Given the description of an element on the screen output the (x, y) to click on. 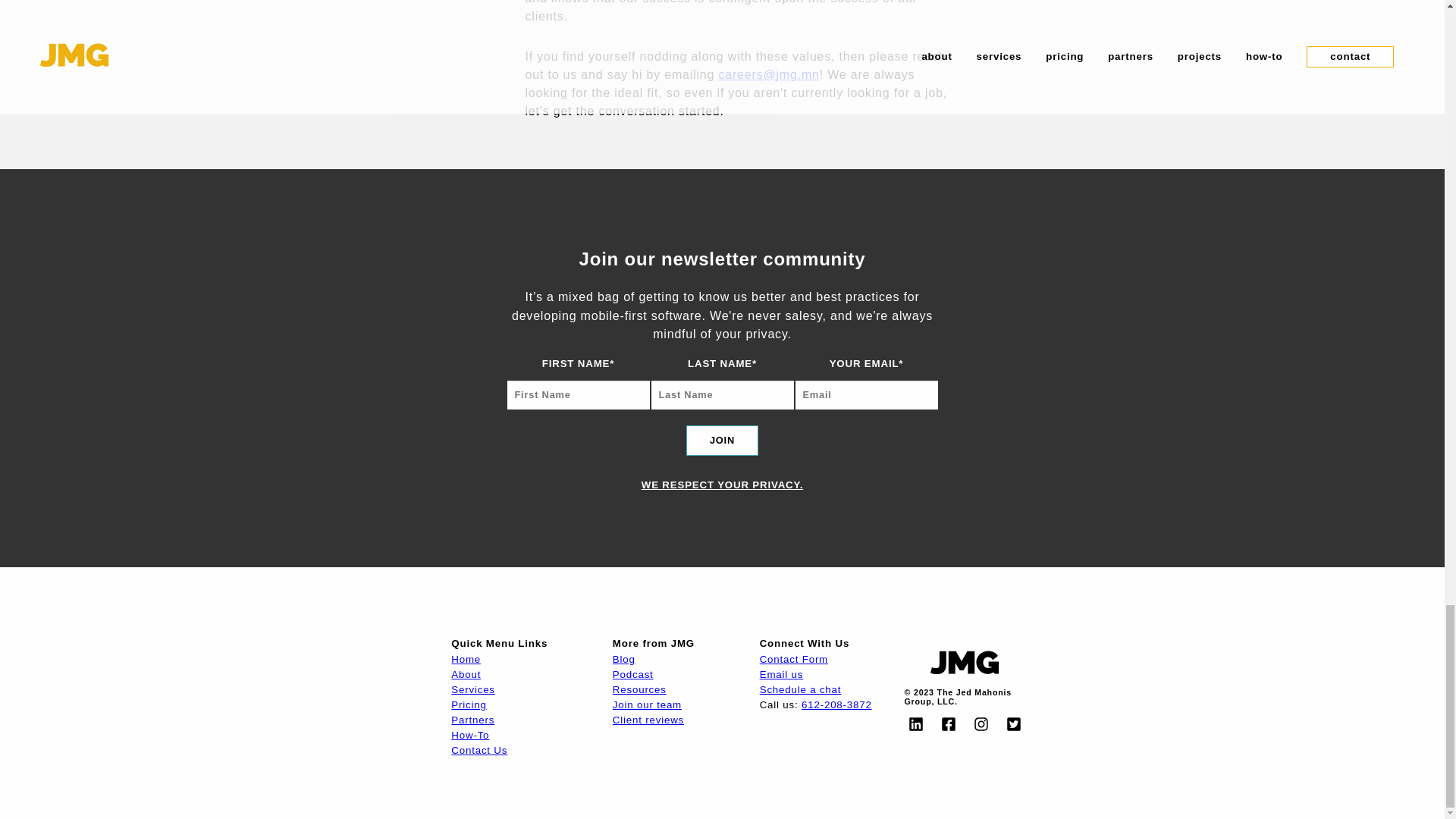
Schedule a chat (800, 689)
Client reviews (648, 719)
Pricing (468, 704)
Contact Form (794, 659)
Blog (623, 659)
Join (721, 440)
Join our team (646, 704)
Join (721, 440)
Partners (473, 719)
Services (473, 689)
